Given the description of an element on the screen output the (x, y) to click on. 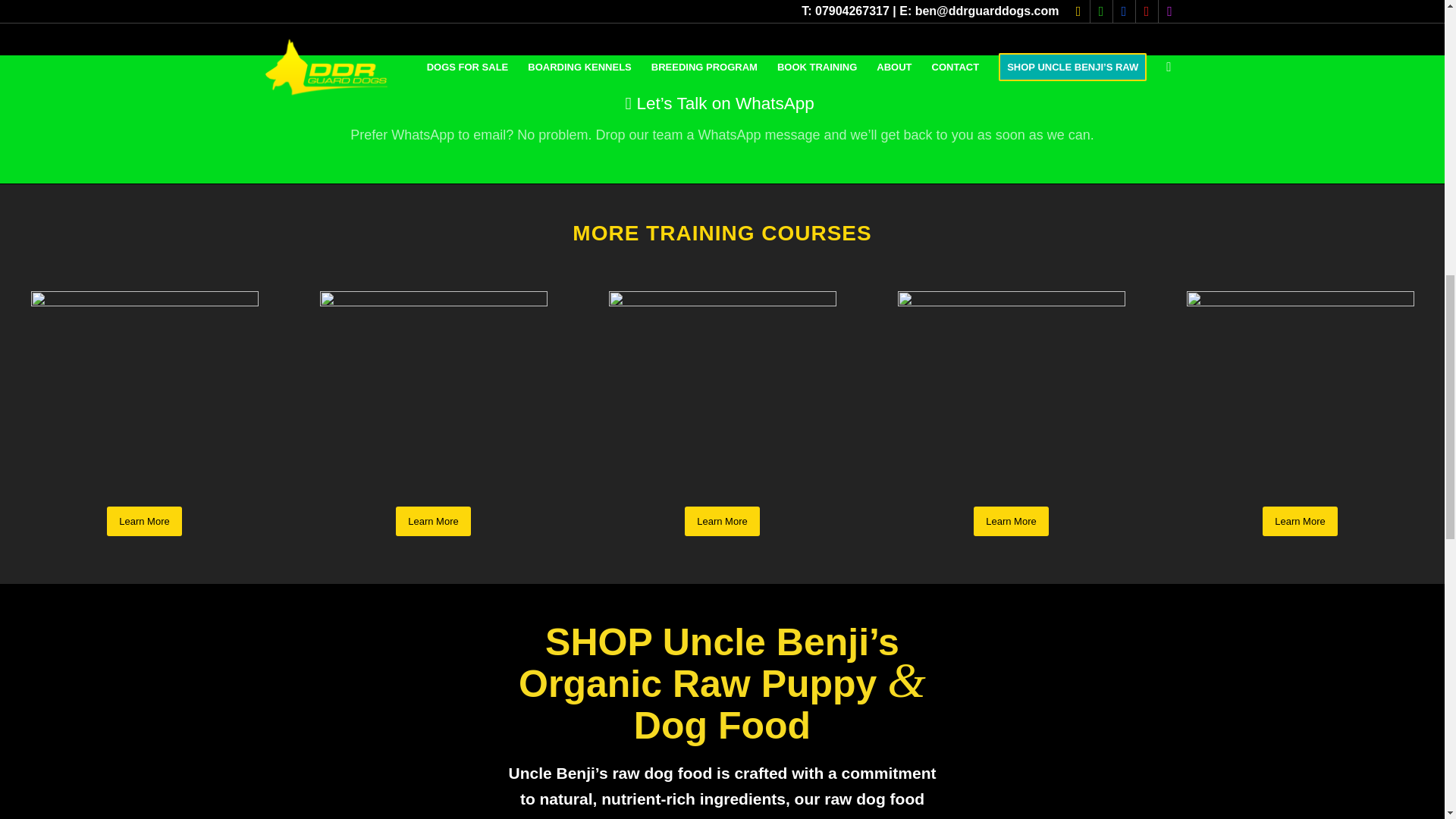
Learn More (1011, 521)
Learn More (1299, 521)
Learn More (143, 521)
Learn More (721, 521)
Obedience (721, 404)
Dog-on-Dog (143, 404)
Zero-2-Zero (1299, 404)
Learn More (433, 521)
Protection (433, 404)
One-2-One (1011, 404)
